Given the description of an element on the screen output the (x, y) to click on. 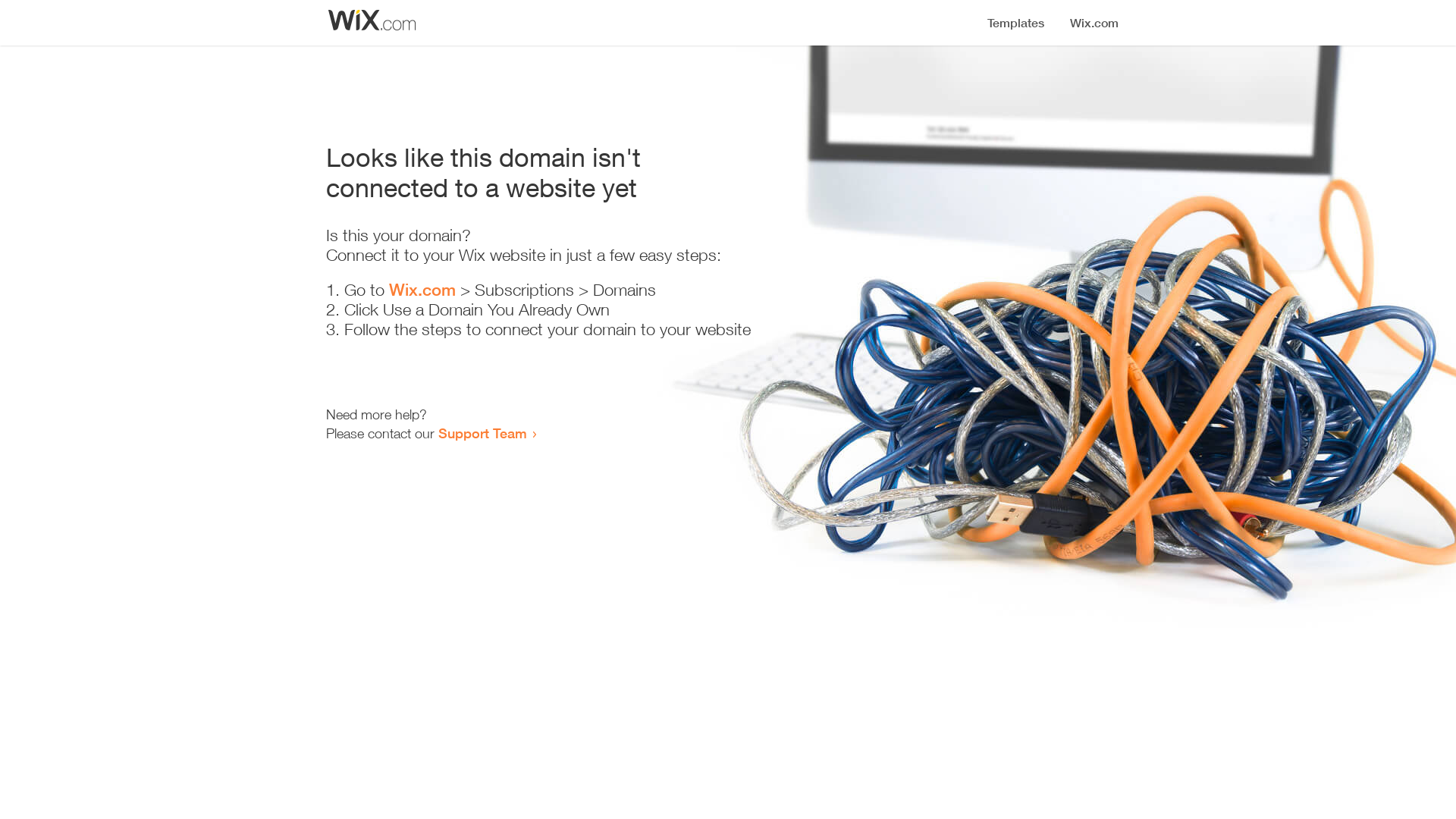
Wix.com Element type: text (422, 289)
Support Team Element type: text (482, 432)
